Given the description of an element on the screen output the (x, y) to click on. 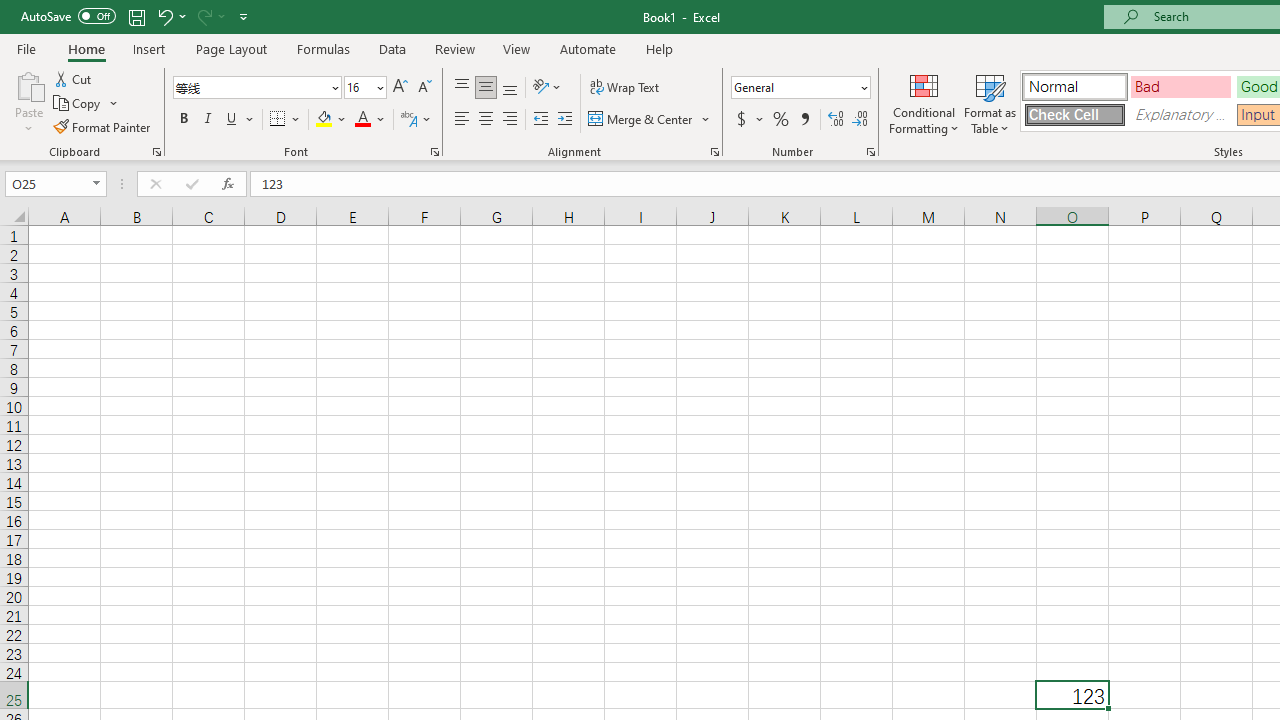
Comma Style (804, 119)
Increase Indent (565, 119)
Fill Color (331, 119)
Wrap Text (624, 87)
Accounting Number Format (741, 119)
Font (250, 87)
Format Cell Alignment (714, 151)
